Given the description of an element on the screen output the (x, y) to click on. 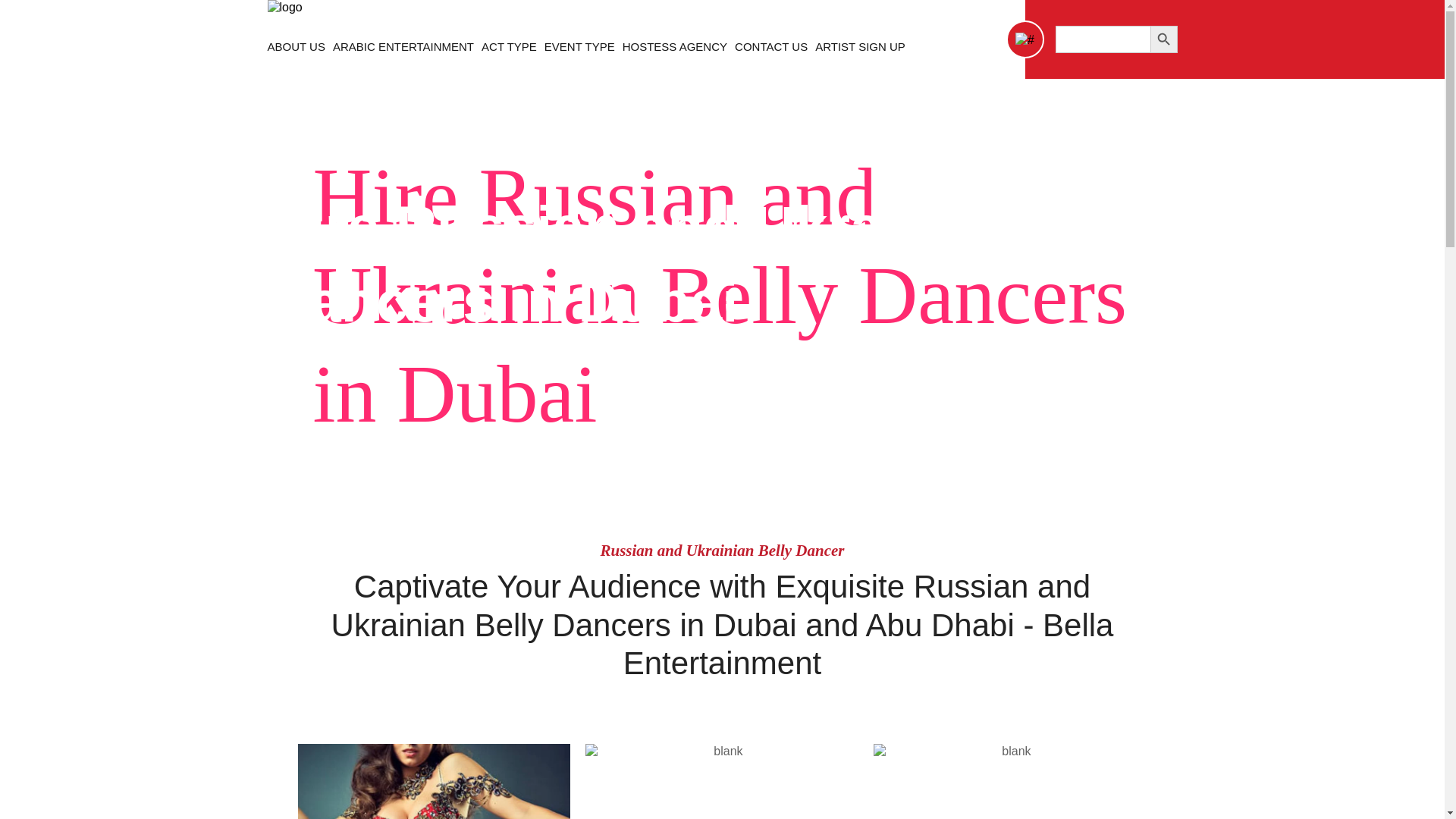
ABOUT US (295, 46)
ARABIC ENTERTAINMENT (403, 46)
